Given the description of an element on the screen output the (x, y) to click on. 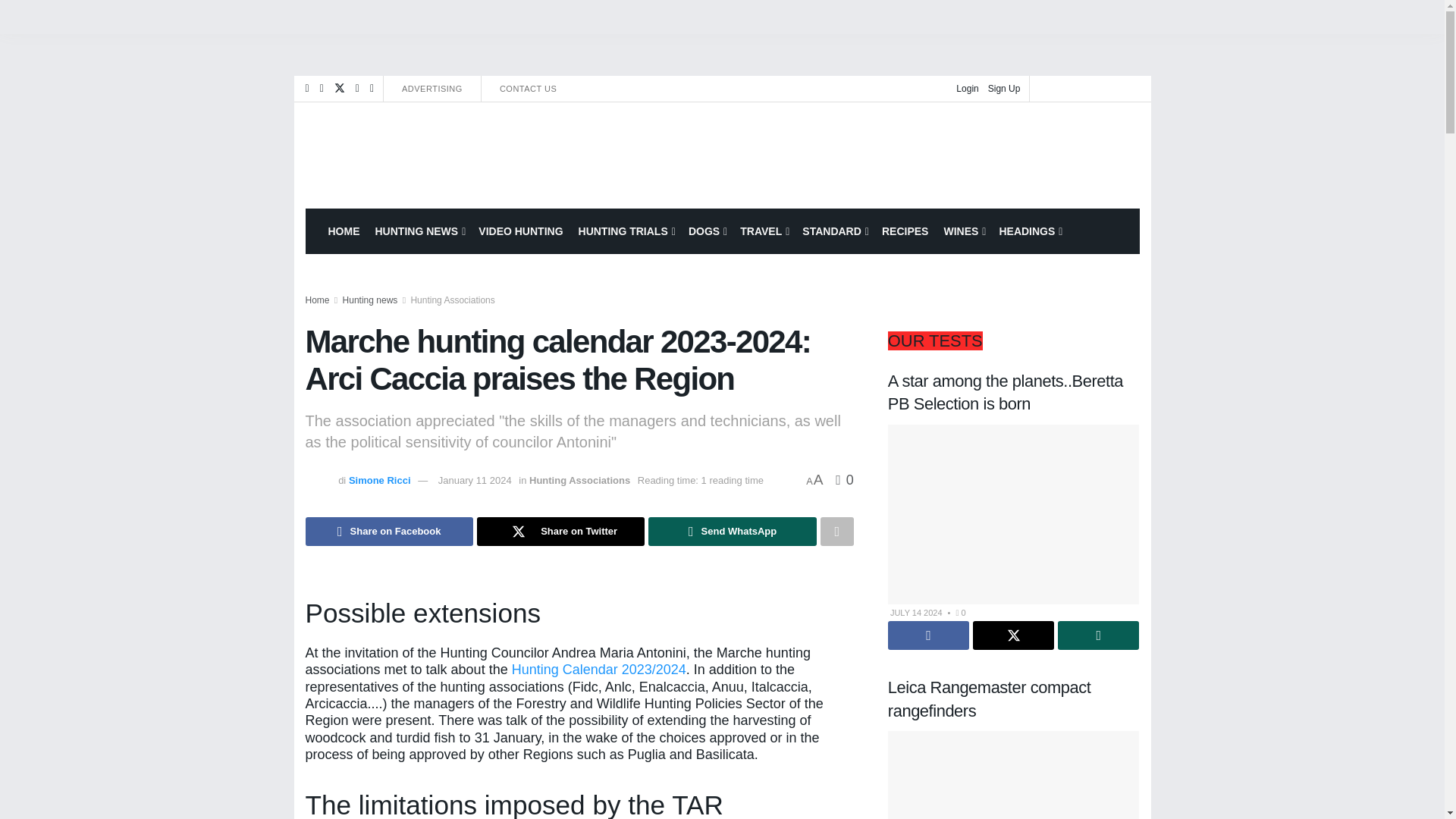
HUNTING TRIALS (625, 230)
Hunting video. Videos and films of hunting and hunting (520, 230)
DOGS (706, 230)
HOME (343, 230)
Login (967, 88)
VIDEO HUNTING (520, 230)
CONTACT US (528, 88)
ADVERTISING (432, 88)
Sign Up (1004, 88)
HUNTING NEWS (418, 230)
